Given the description of an element on the screen output the (x, y) to click on. 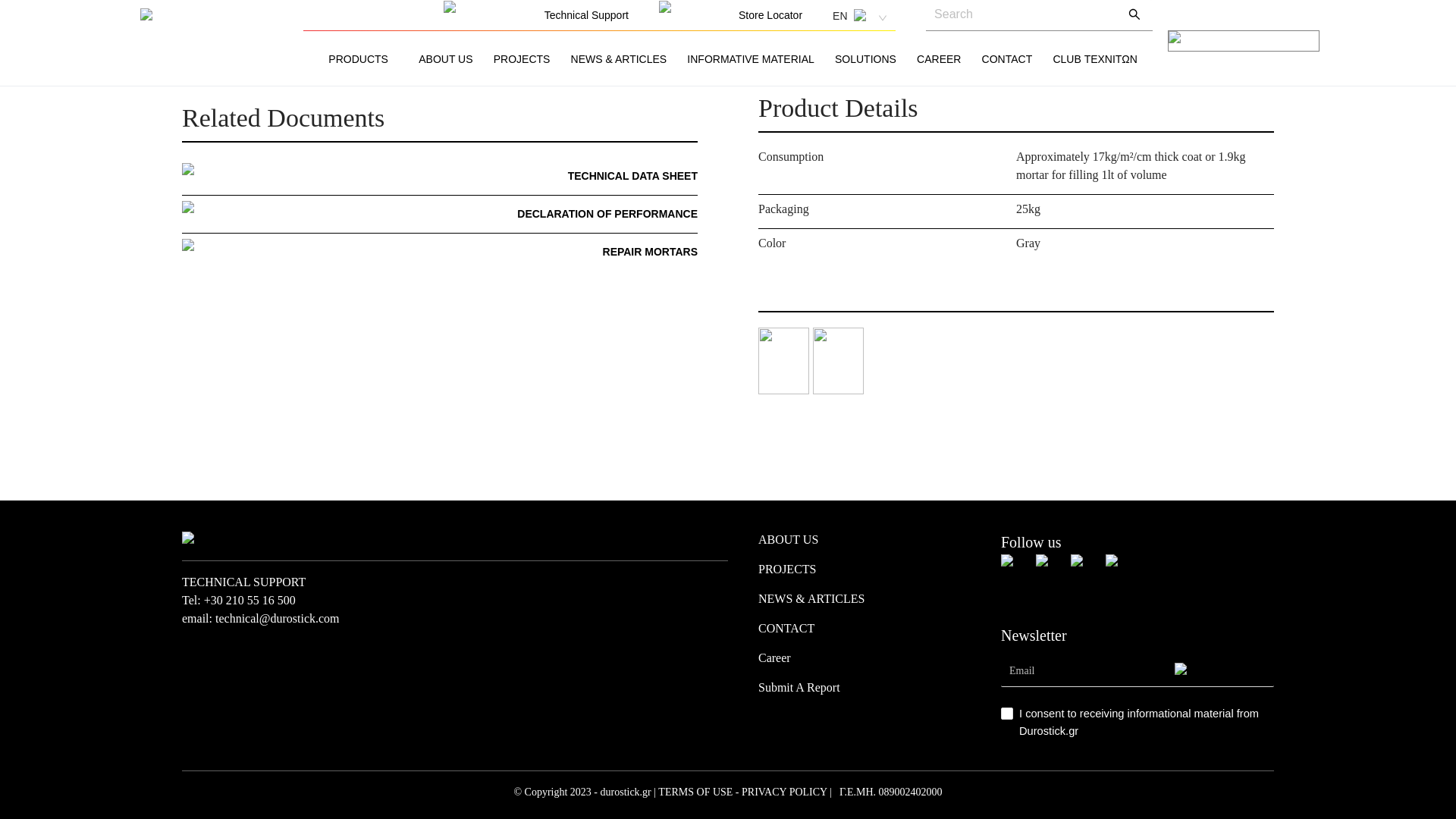
REPAIR MORTARS (649, 251)
INTERESTED IN BUYING (439, 46)
DECLARATION OF PERFORMANCE (606, 213)
TERMS OF USE - PRIVACY POLICY (742, 791)
INTERESTED IN BUYING (439, 46)
TECHNICAL DATA SHEET (632, 175)
